Given the description of an element on the screen output the (x, y) to click on. 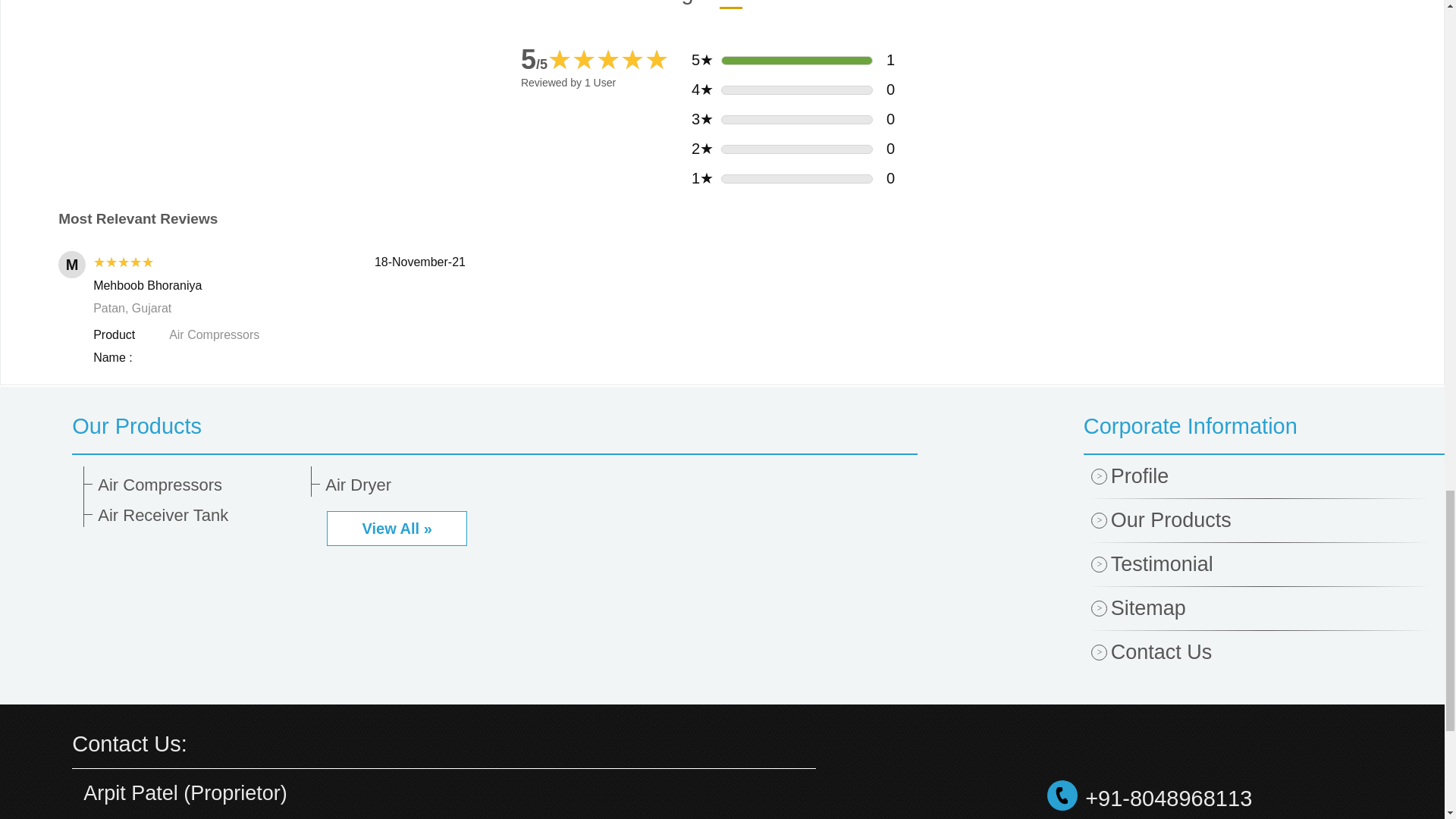
Contact Us: (129, 743)
Air Compressors (198, 484)
Air Dryer (426, 484)
Air Receiver Tank (198, 515)
Our Products (494, 425)
